Given the description of an element on the screen output the (x, y) to click on. 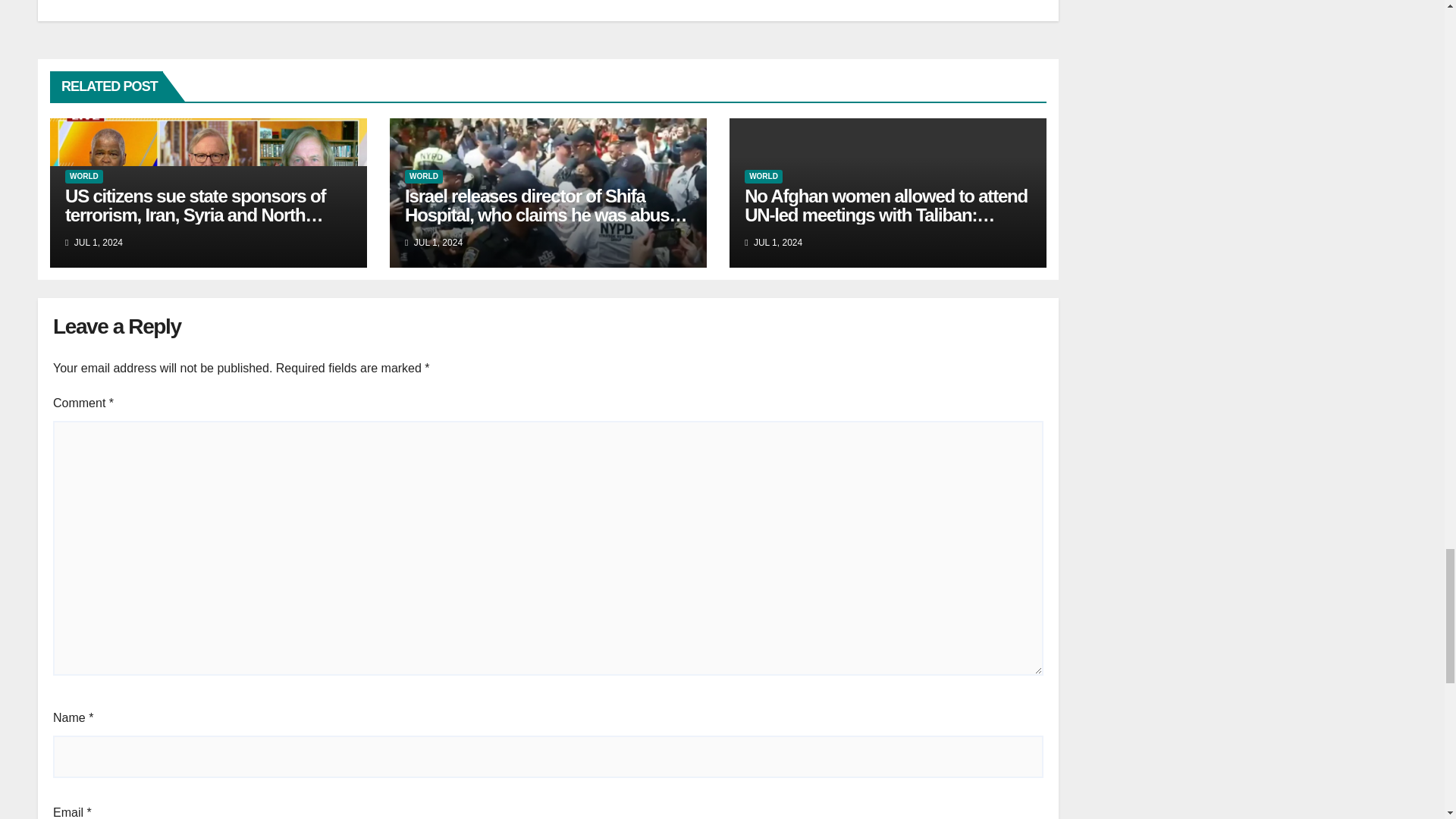
WORLD (763, 176)
WORLD (84, 176)
WORLD (423, 176)
